Given the description of an element on the screen output the (x, y) to click on. 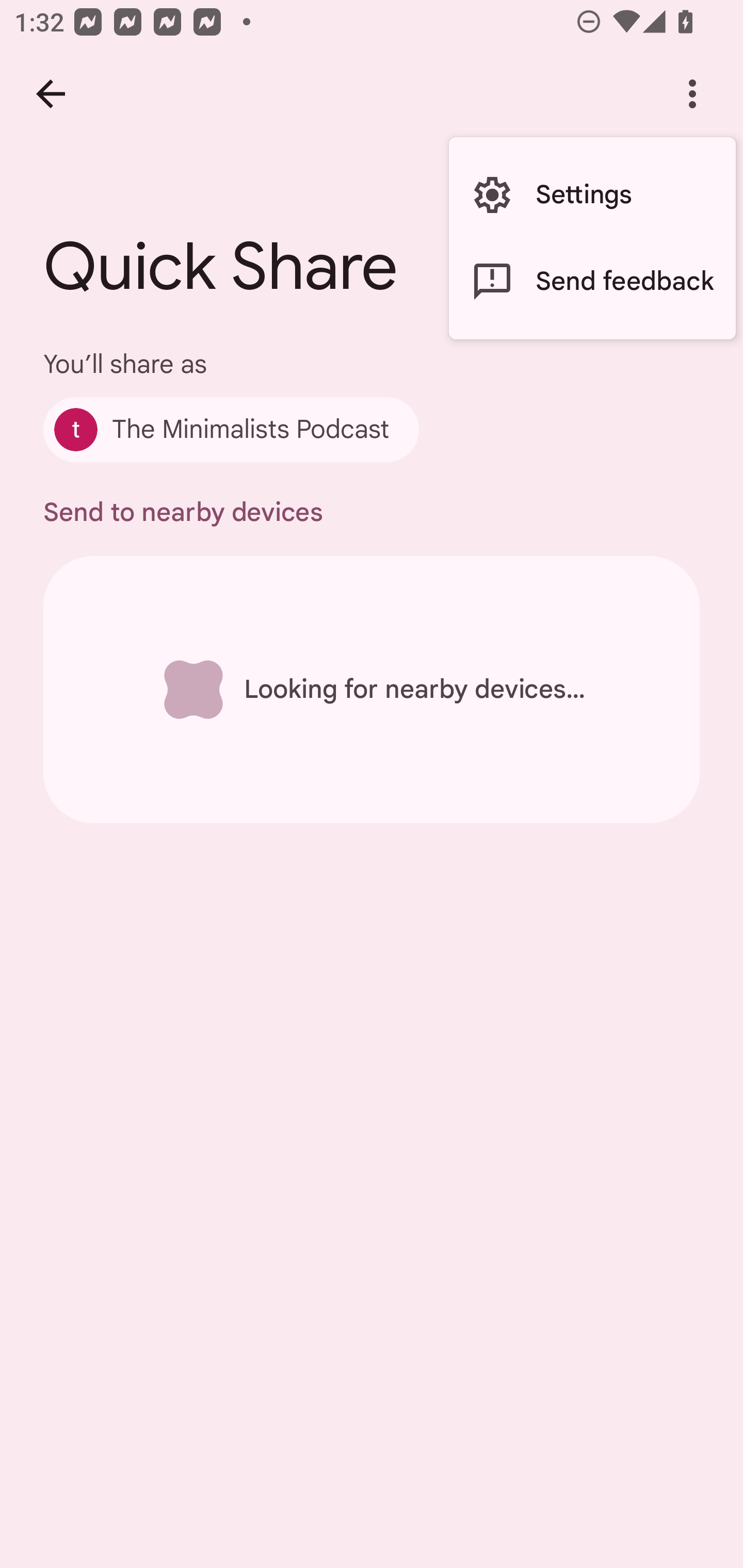
Settings (591, 195)
Send feedback (591, 281)
